Given the description of an element on the screen output the (x, y) to click on. 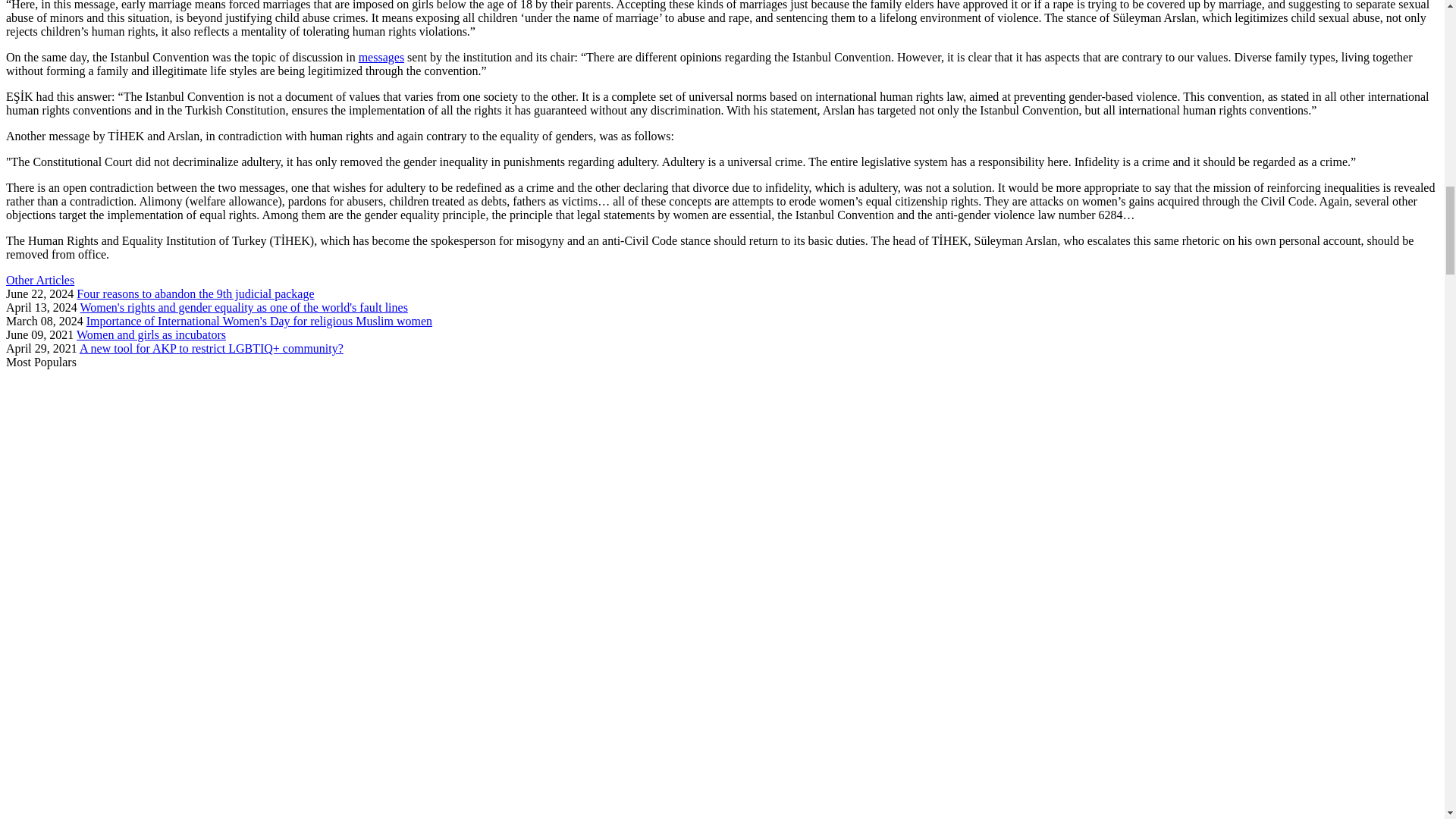
messages (381, 56)
Four reasons to abandon the 9th judicial package (195, 293)
Other Articles (39, 279)
Four reasons to abandon the 9th judicial package (195, 293)
Women and girls as incubators (151, 334)
